Given the description of an element on the screen output the (x, y) to click on. 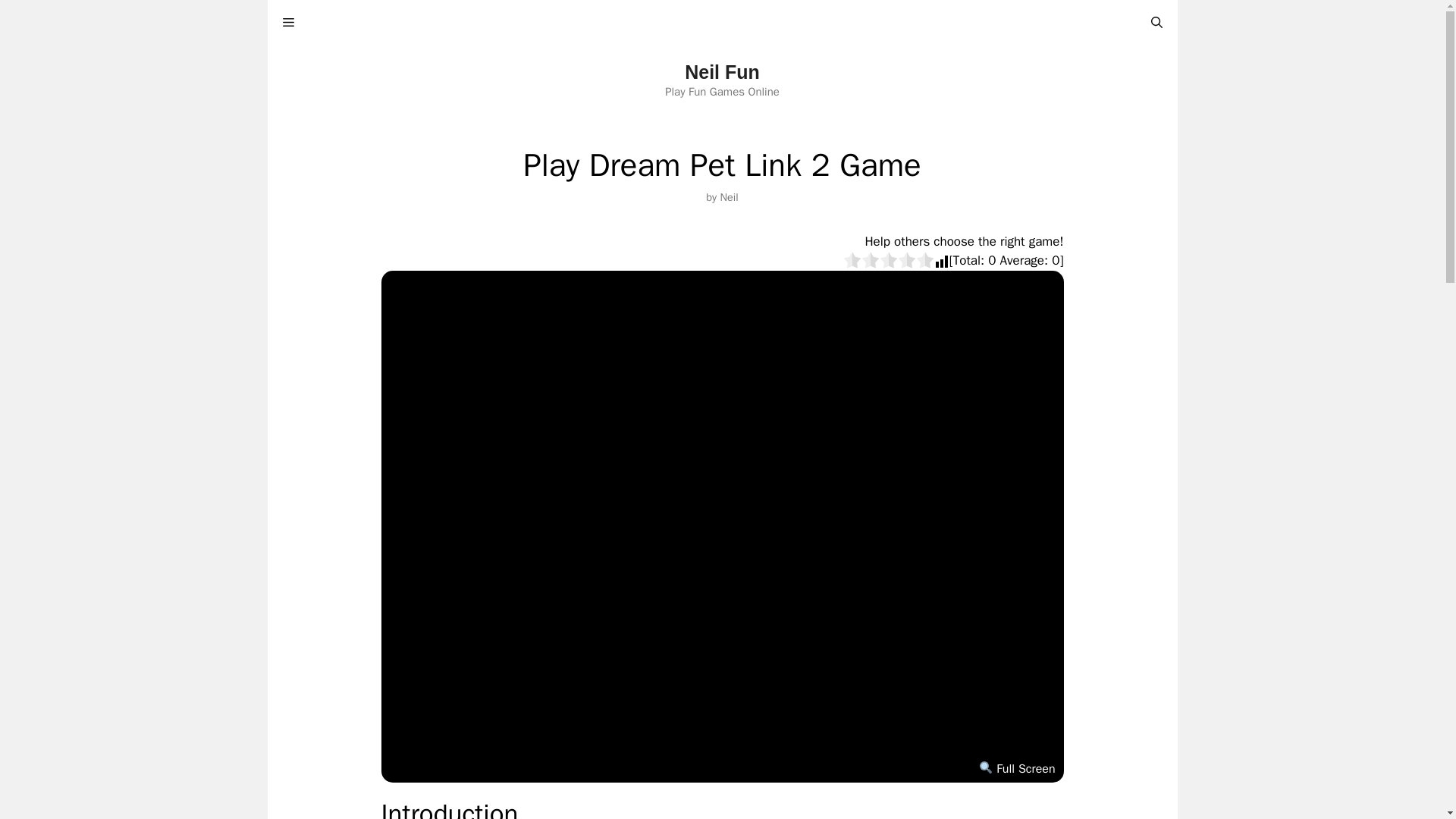
View all posts by Neil (728, 196)
Neil (728, 196)
Neil Fun (722, 71)
Full Screen (1016, 768)
